Given the description of an element on the screen output the (x, y) to click on. 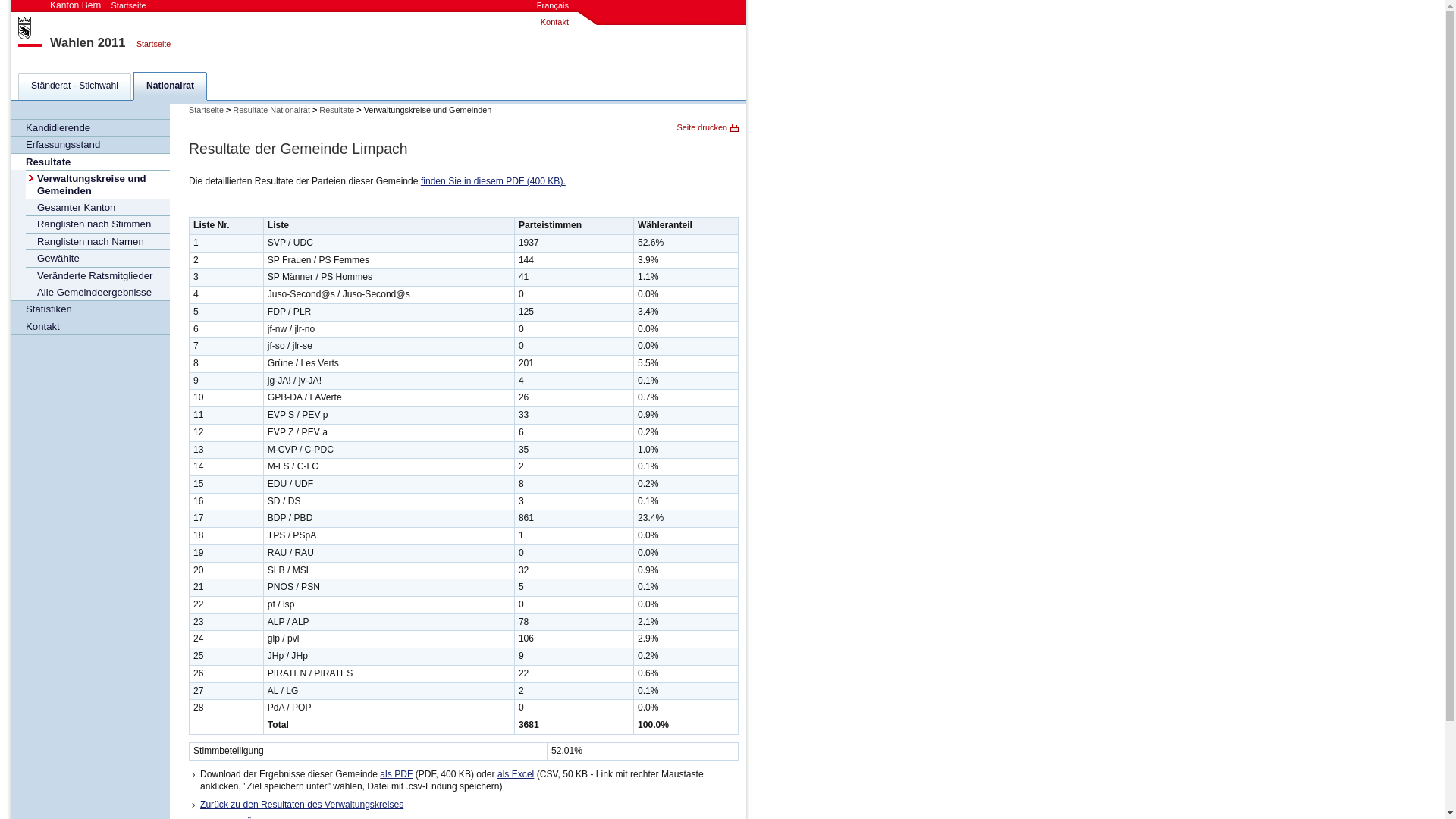
Resultate Element type: text (336, 109)
Startseite Element type: text (149, 43)
Resultate Element type: text (89, 161)
Wahlen 2011 Element type: text (87, 42)
Alle Gemeindeergebnisse Element type: text (97, 291)
Seite drucken Element type: text (707, 126)
Ranglisten nach Namen Element type: text (97, 240)
Kontakt Element type: text (554, 21)
als Excel Element type: text (515, 773)
Gesamter Kanton Element type: text (97, 206)
Statistiken Element type: text (89, 308)
Kanton Bern Startseite Element type: text (98, 5)
als PDF Element type: text (395, 773)
finden Sie in diesem PDF (400 KB). Element type: text (492, 180)
Resultate Nationalrat Element type: text (271, 109)
Erfassungsstand Element type: text (89, 143)
Verwaltungskreise und Gemeinden Element type: text (97, 183)
Kontakt Element type: text (89, 325)
Startseite Element type: text (205, 109)
Kandidierende Element type: text (89, 127)
Ranglisten nach Stimmen Element type: text (97, 223)
Nationalrat Element type: text (170, 86)
